Given the description of an element on the screen output the (x, y) to click on. 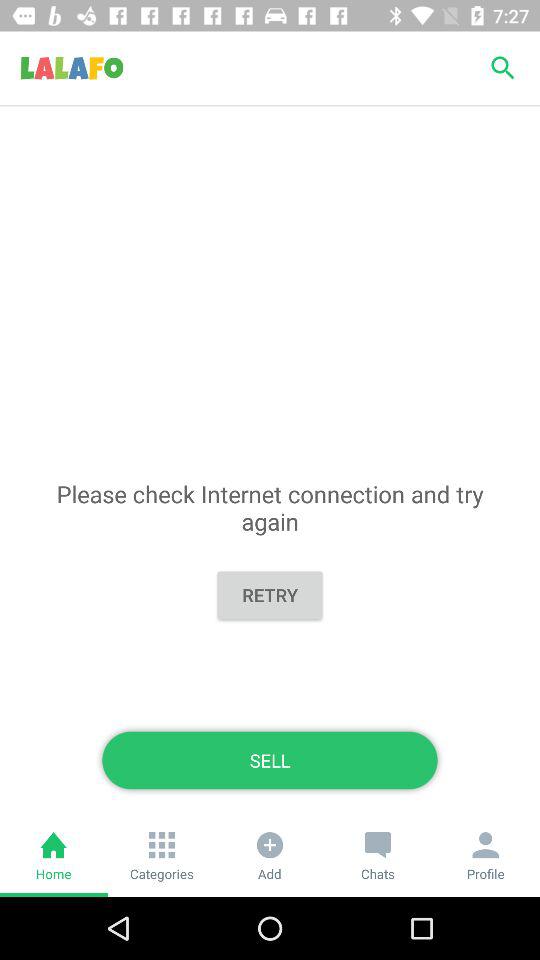
open sell icon (269, 760)
